Given the description of an element on the screen output the (x, y) to click on. 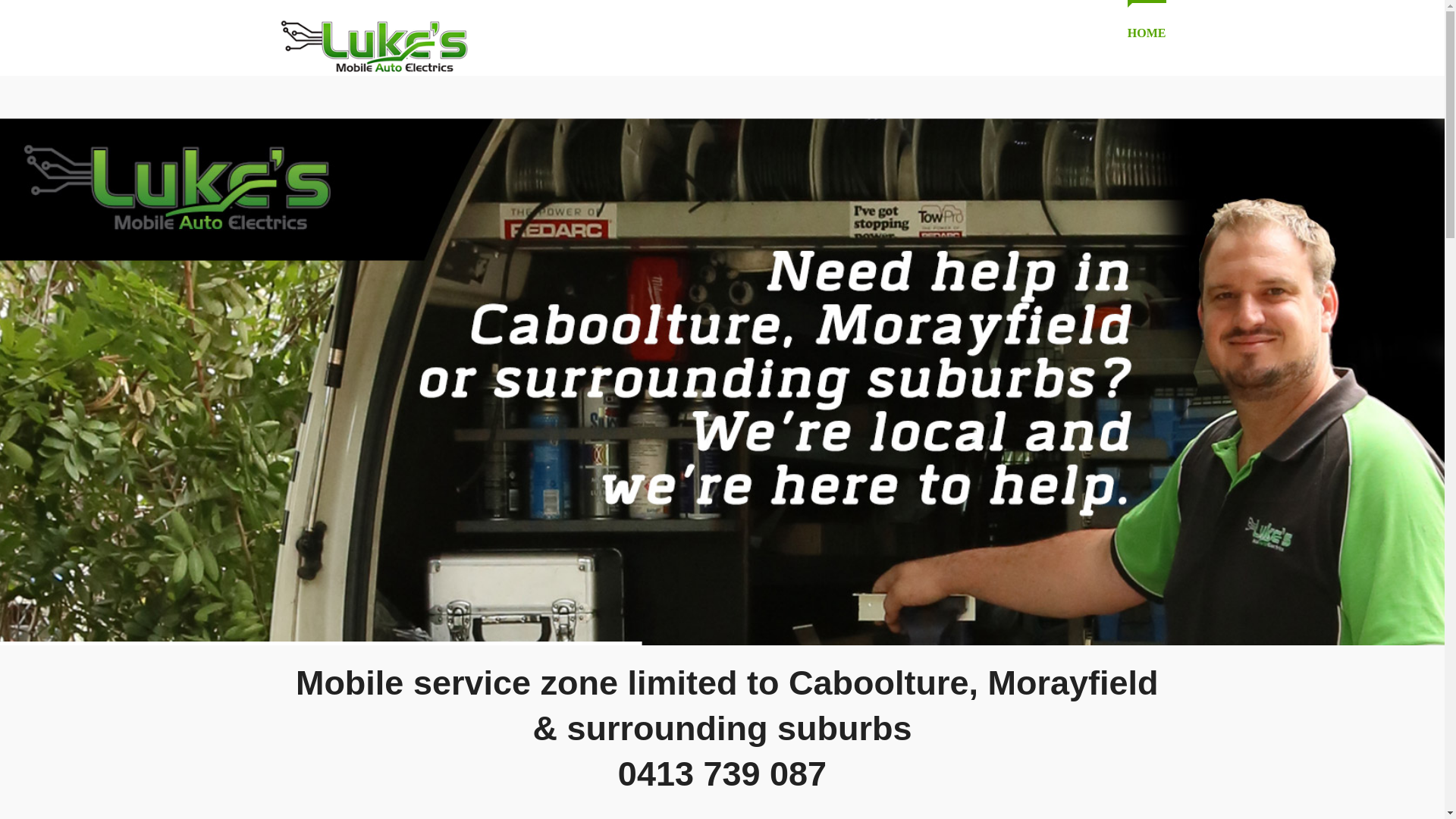
HOME Element type: text (1146, 33)
